Given the description of an element on the screen output the (x, y) to click on. 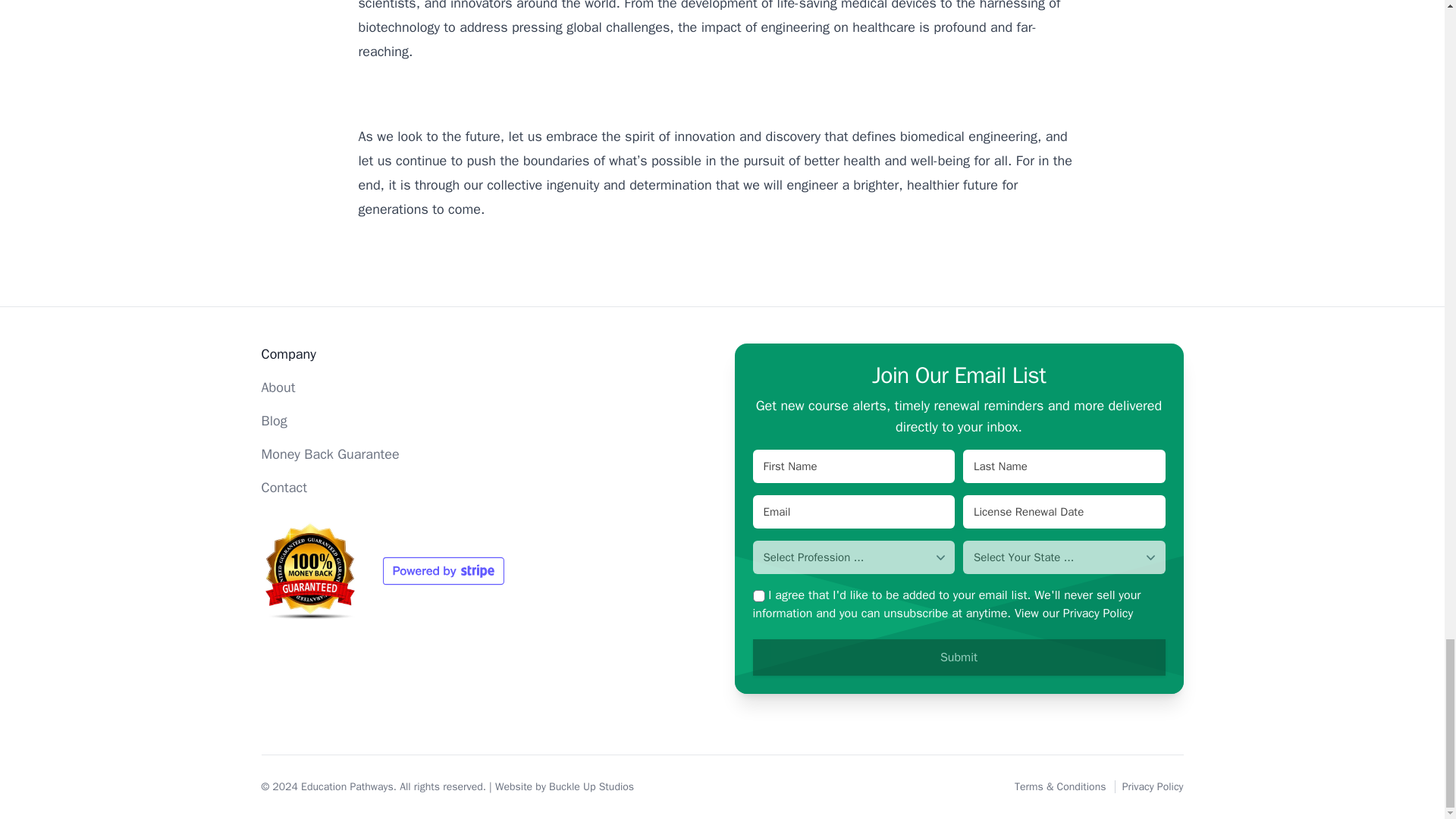
Privacy Policy (1097, 613)
Contact (282, 487)
Submit (958, 657)
1 (758, 595)
Submit (958, 657)
Blog (273, 420)
Website by Buckle Up Studios (564, 786)
About (277, 387)
Privacy Policy (1152, 786)
Money Back Guarantee (329, 453)
